Given the description of an element on the screen output the (x, y) to click on. 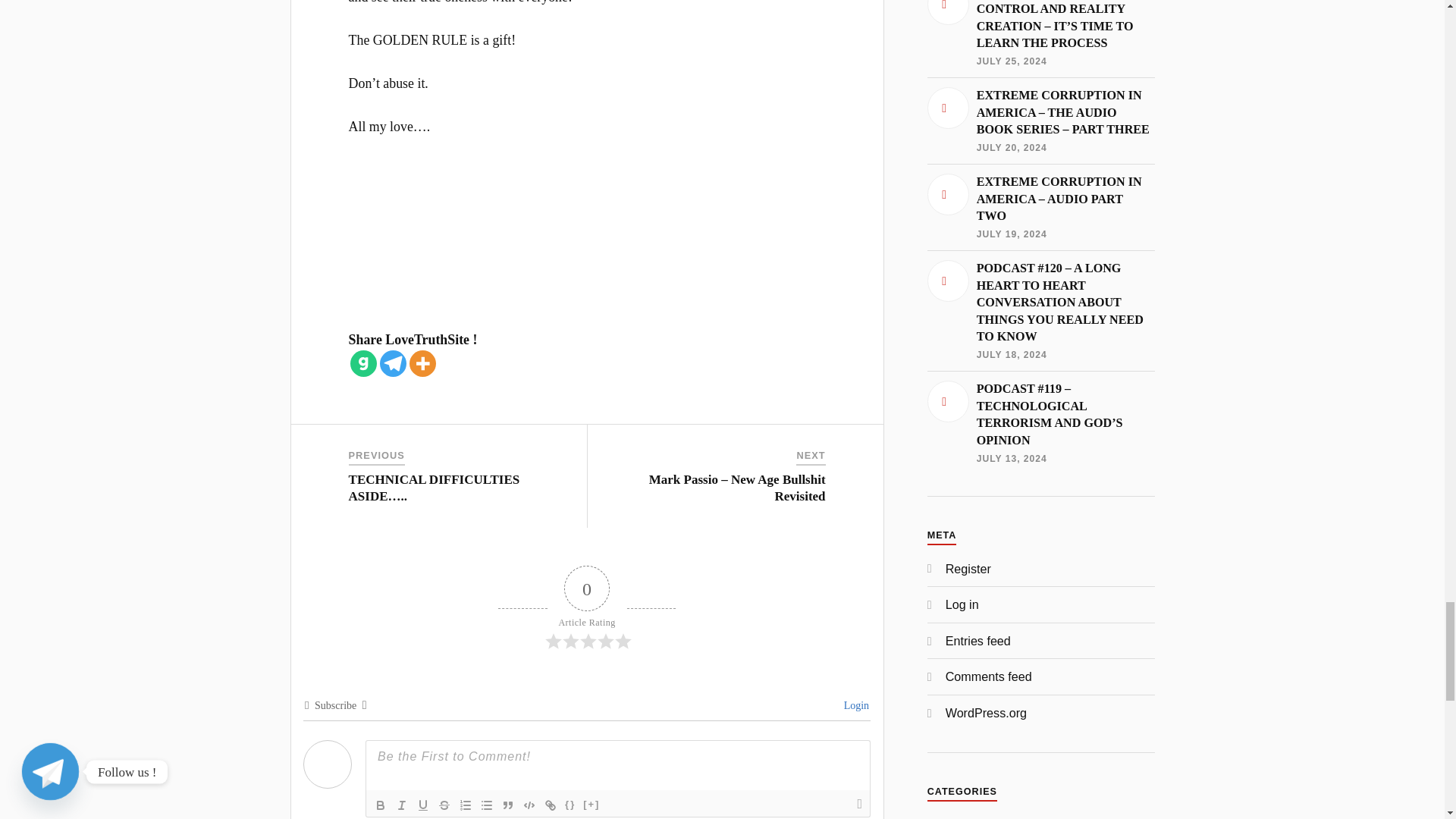
Source Code (569, 805)
Underline (422, 805)
Unordered List (486, 805)
Spoiler (591, 805)
Blockquote (507, 805)
Italic (401, 805)
Gab (363, 363)
Strike (443, 805)
Code Block (529, 805)
Link (550, 805)
Bold (380, 805)
Ordered List (465, 805)
More (422, 363)
Telegram (393, 363)
